Given the description of an element on the screen output the (x, y) to click on. 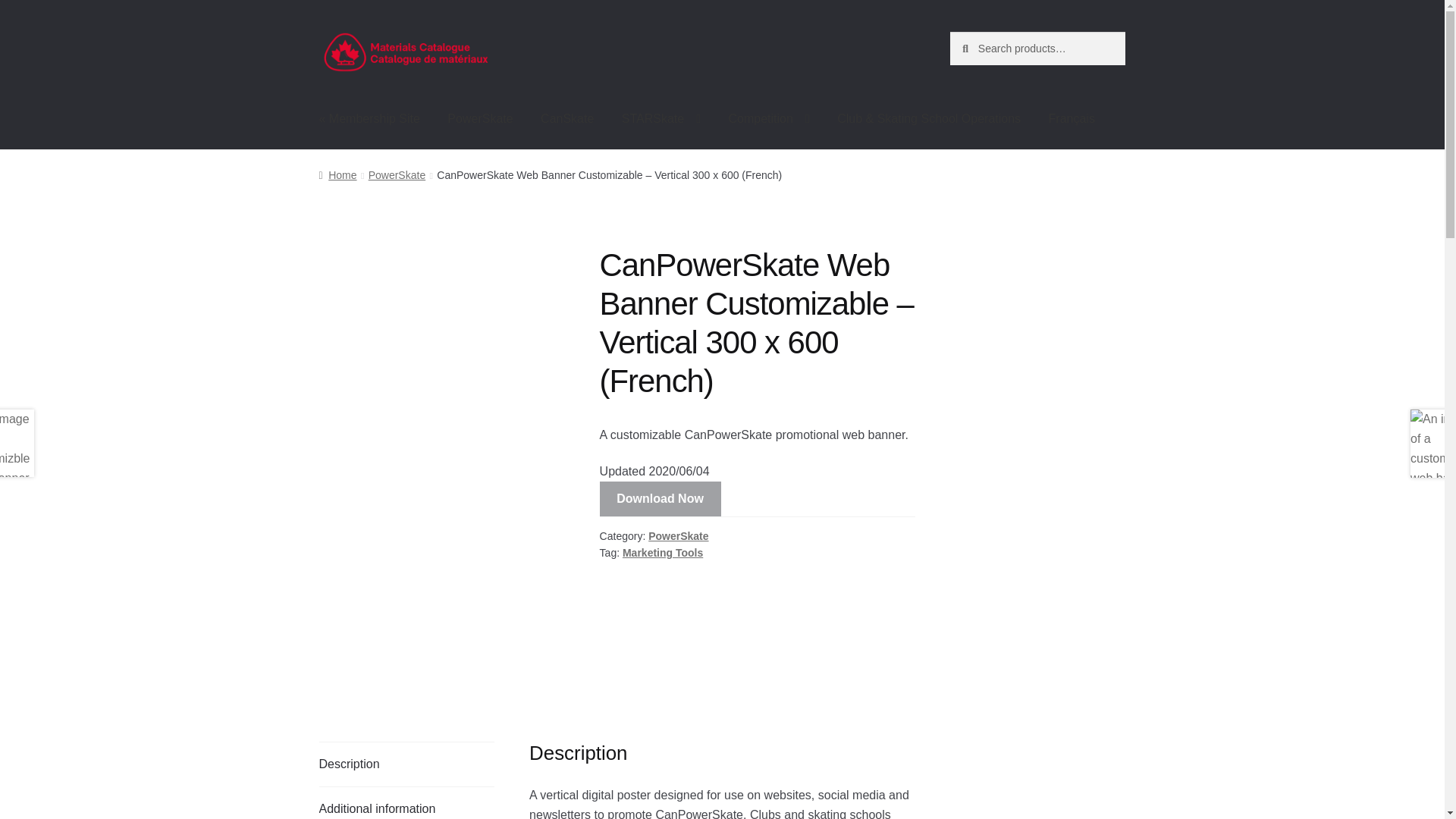
PowerSkate (479, 118)
STARSkate (661, 118)
Competition (768, 118)
CanSkate (566, 118)
